Given the description of an element on the screen output the (x, y) to click on. 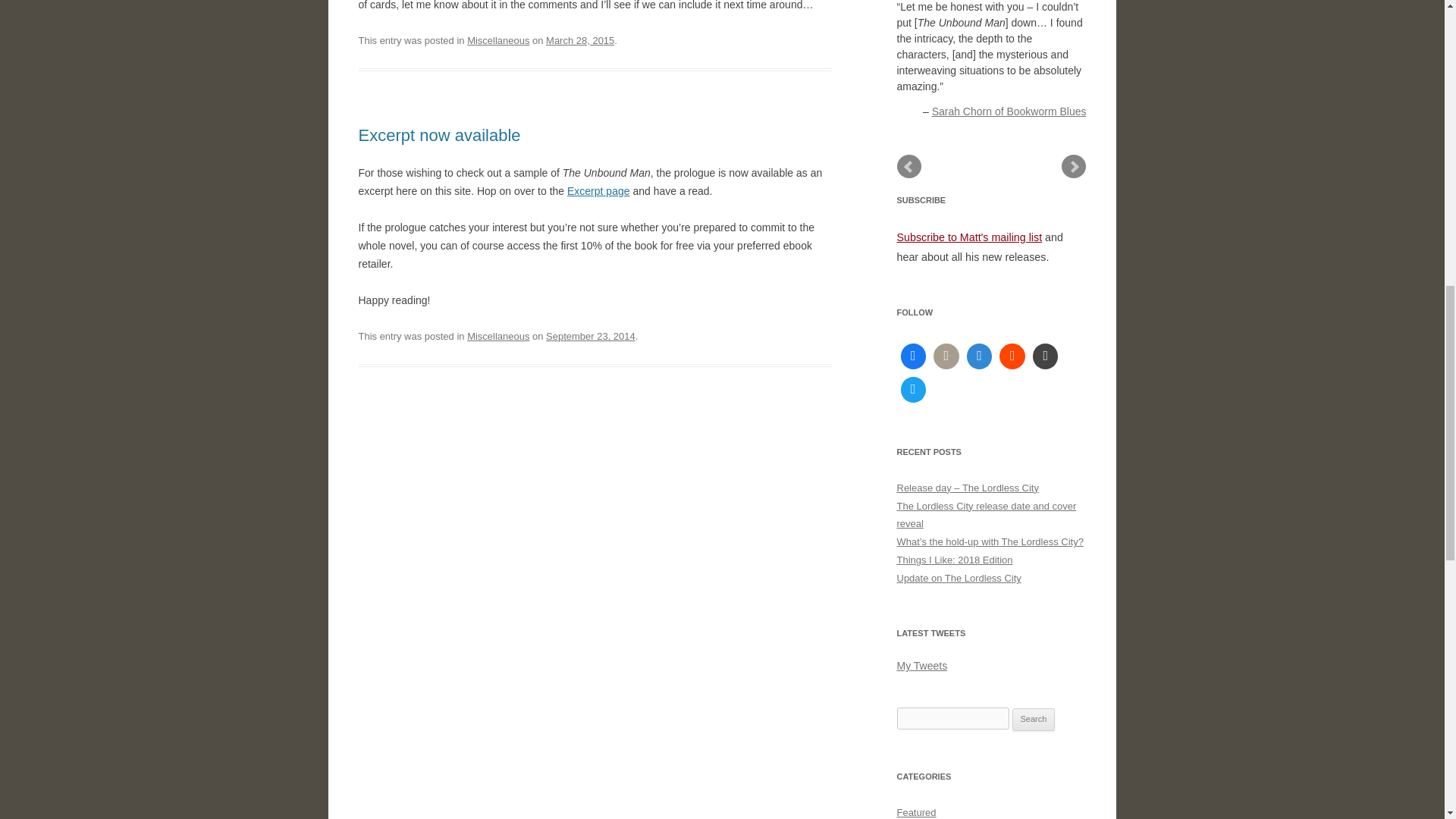
Excerpt now available (438, 135)
Excerpt page (598, 191)
Sarah Chorn of Bookworm Blues (1008, 111)
Facebook (913, 356)
Mastodon (978, 356)
9:22 pm (590, 336)
Rss (1045, 356)
Twitter (913, 389)
Miscellaneous (498, 40)
Goodreads (946, 356)
Prev (908, 166)
Next (1073, 166)
5:08 pm (580, 40)
March 28, 2015 (580, 40)
Miscellaneous (498, 336)
